Given the description of an element on the screen output the (x, y) to click on. 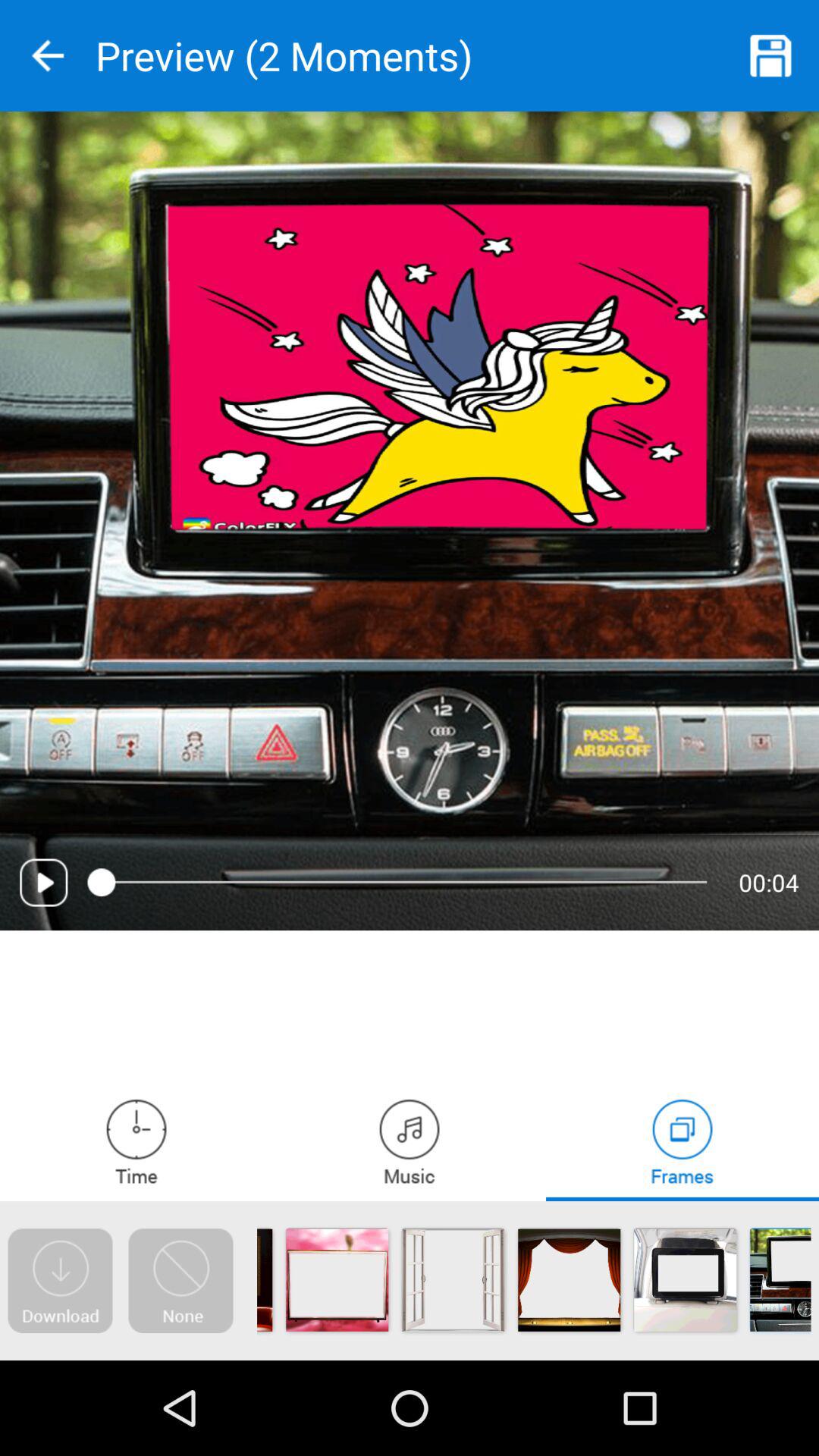
go to music (409, 1141)
